Given the description of an element on the screen output the (x, y) to click on. 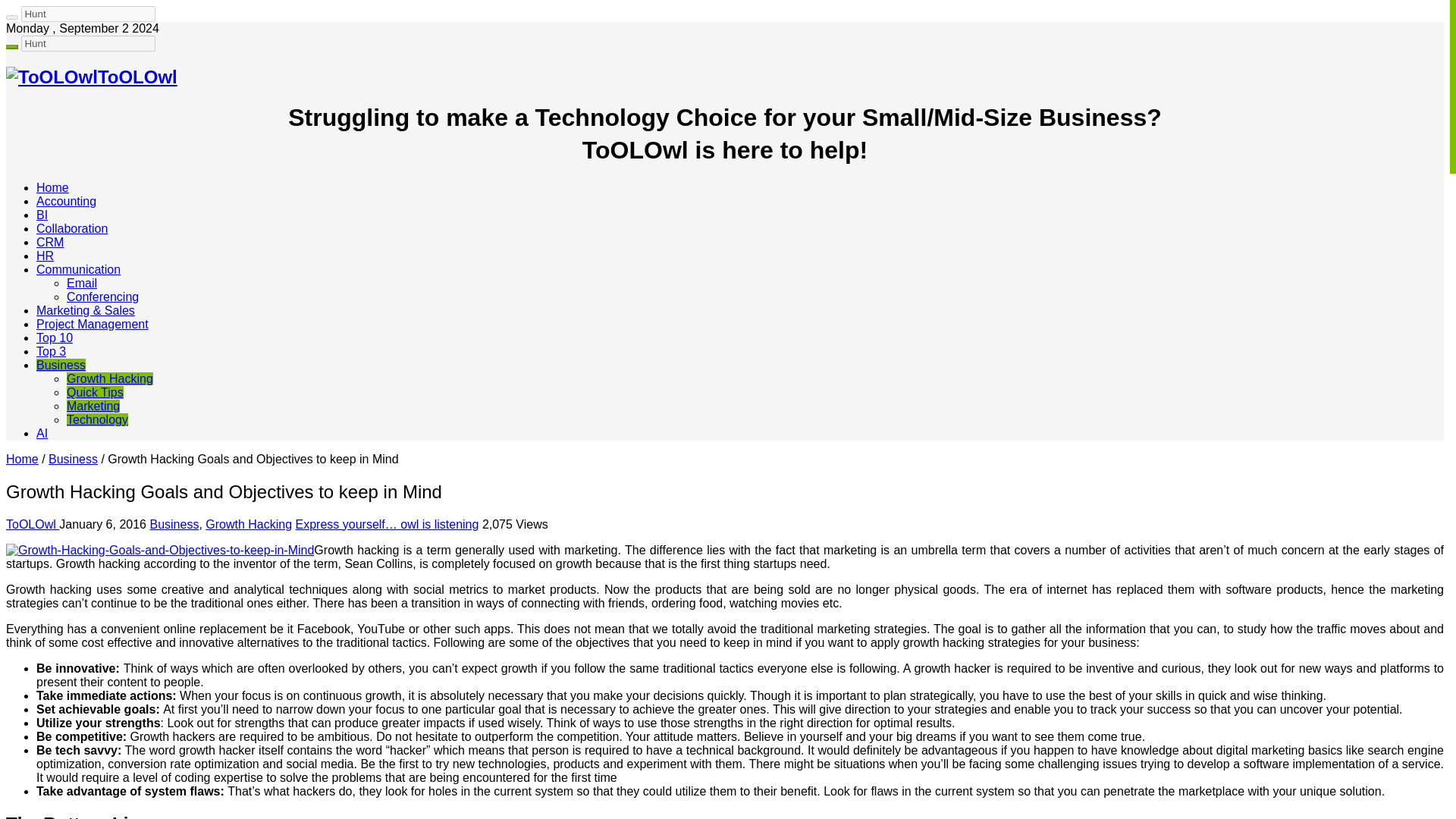
Email (81, 282)
Collaboration (71, 228)
ToOLOwl (32, 523)
Business (72, 459)
Growth Hacking (109, 378)
Technology (97, 419)
Conferencing (102, 296)
HR (44, 255)
Marketing (92, 405)
Communication (78, 269)
